Given the description of an element on the screen output the (x, y) to click on. 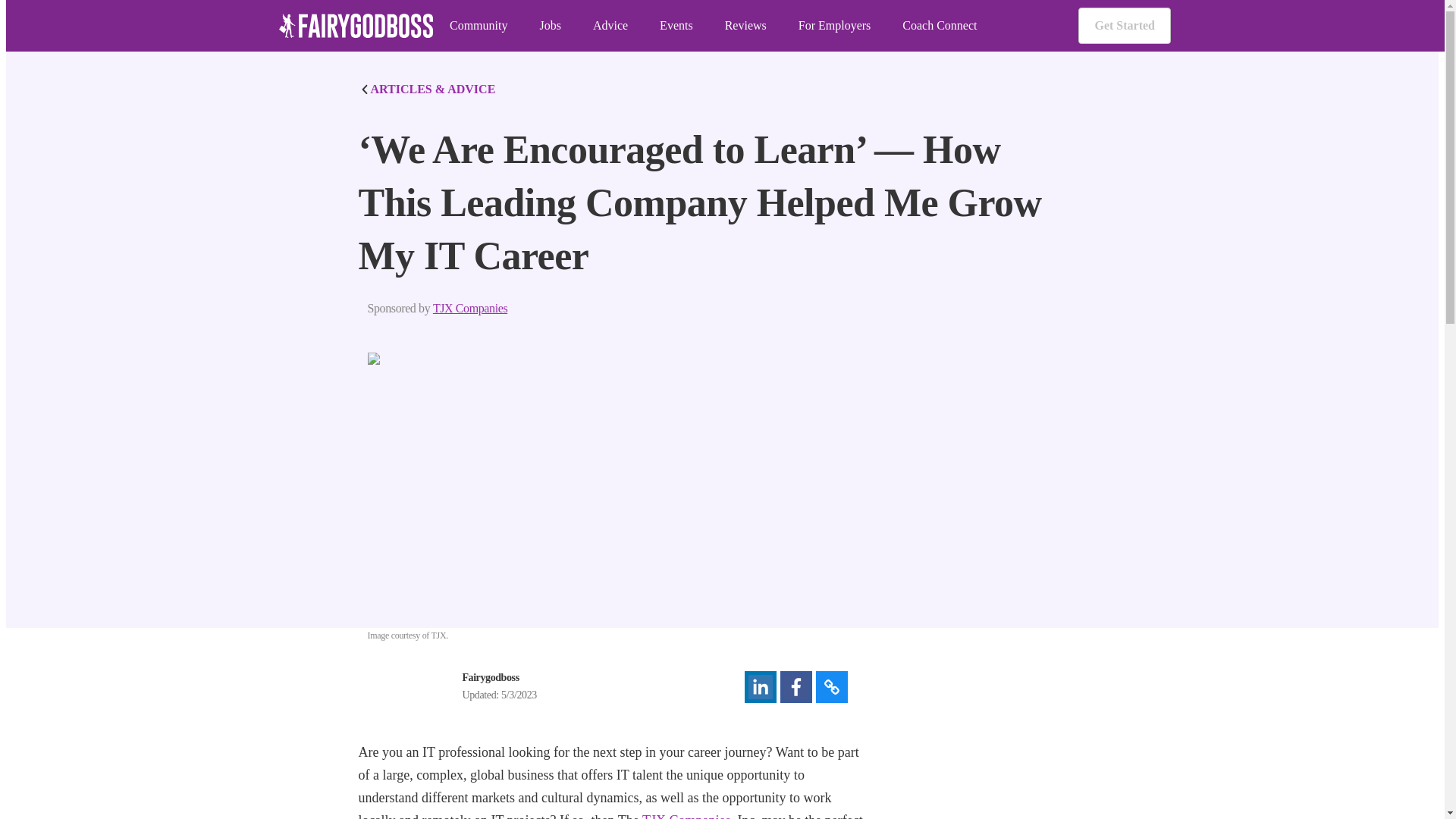
Advice (609, 25)
For Employers (833, 25)
Community (477, 25)
Coach Connect (939, 25)
Jobs (549, 25)
Events (676, 25)
Get Started (1124, 25)
TJX Companies (686, 816)
Jobs (549, 25)
Reviews (746, 25)
